Given the description of an element on the screen output the (x, y) to click on. 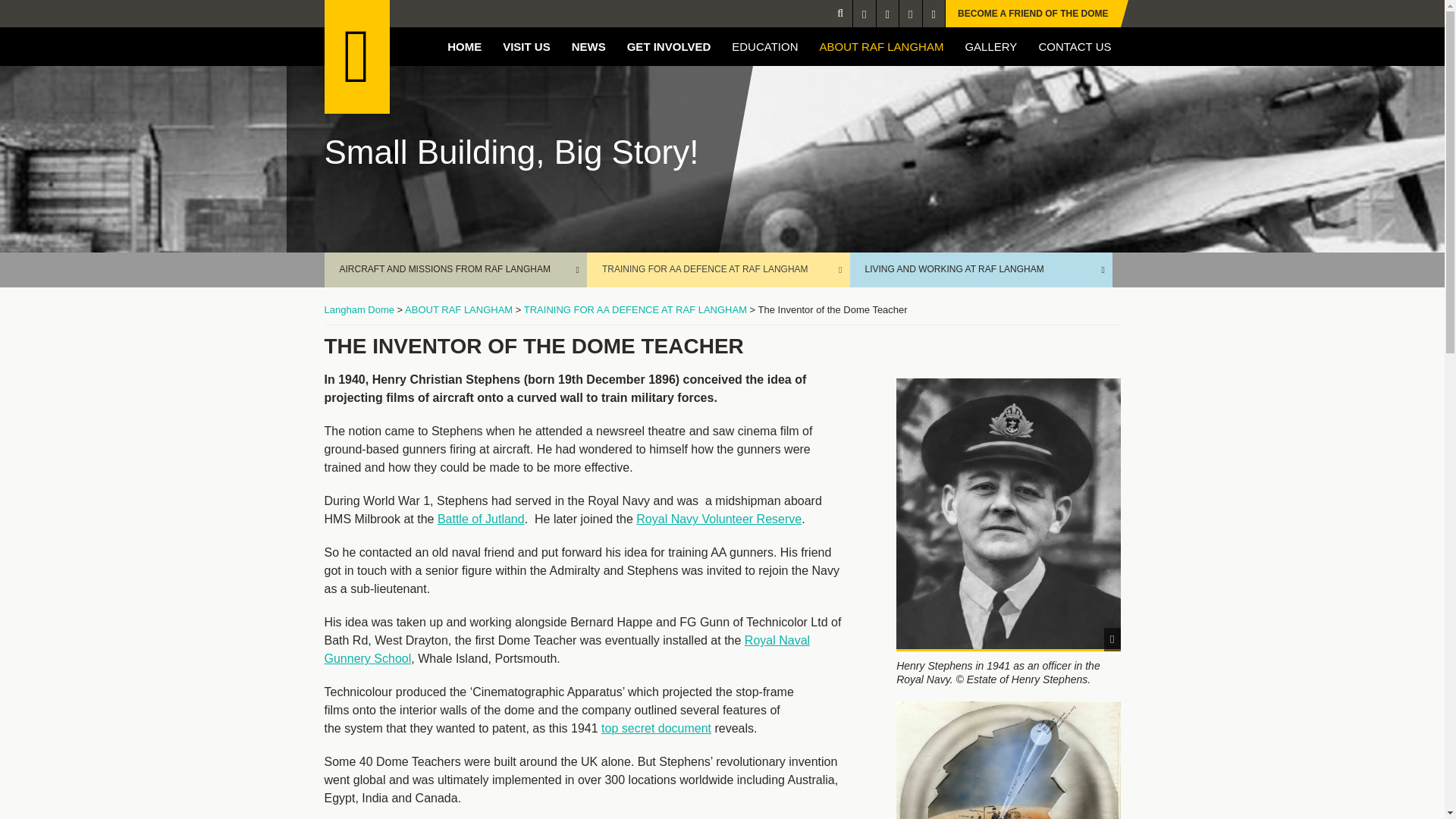
TRAINING FOR AA DEFENCE AT RAF LANGHAM (718, 269)
NEWS (588, 46)
Go to ABOUT RAF LANGHAM. (458, 309)
AIRCRAFT AND MISSIONS FROM RAF LANGHAM (456, 269)
CONTACT US (1074, 46)
EDUCATION (764, 46)
ABOUT RAF LANGHAM (881, 46)
Go to TRAINING FOR AA DEFENCE AT RAF LANGHAM. (635, 309)
GET INVOLVED (668, 46)
